Given the description of an element on the screen output the (x, y) to click on. 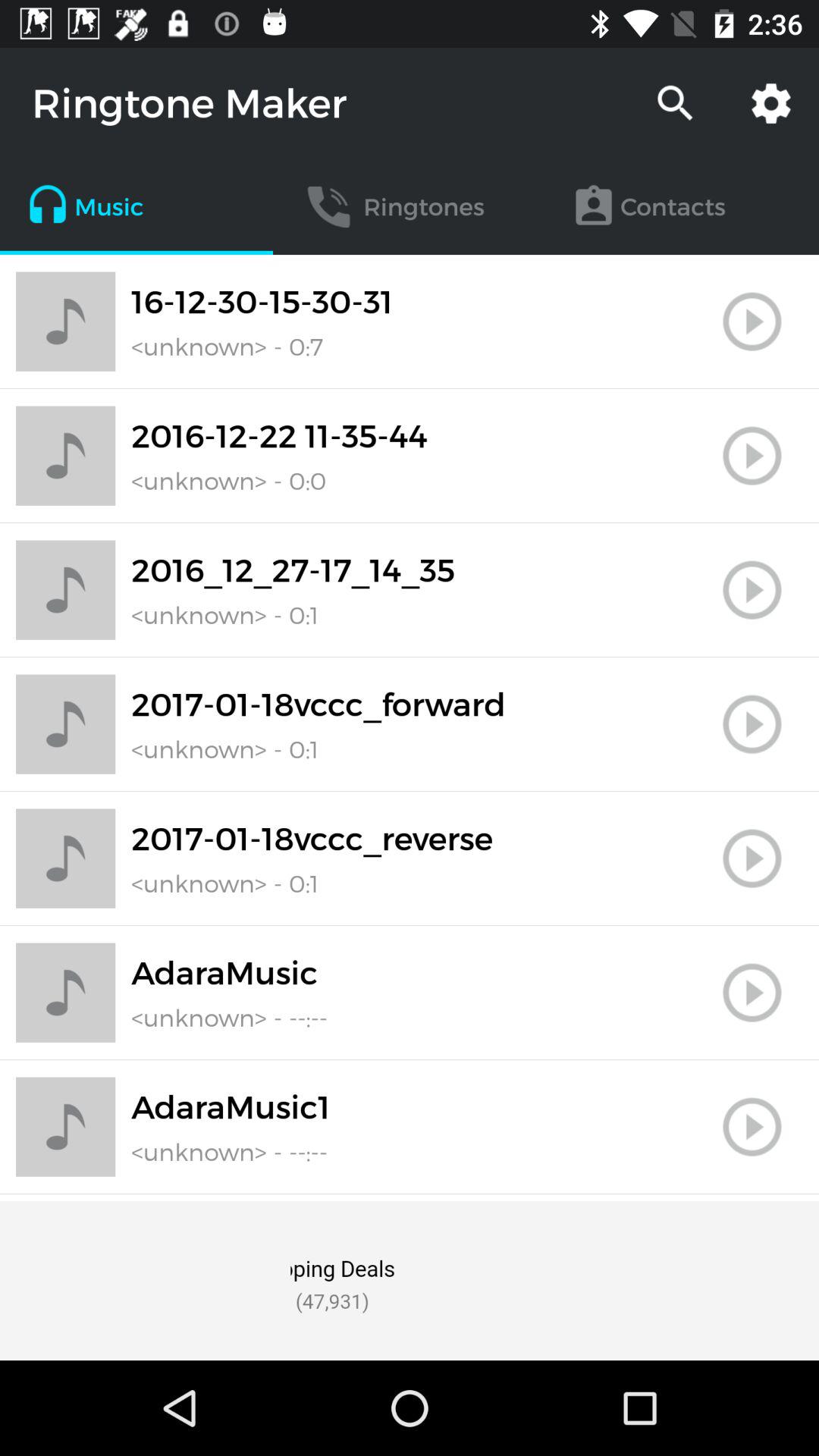
play ringtone (752, 858)
